Given the description of an element on the screen output the (x, y) to click on. 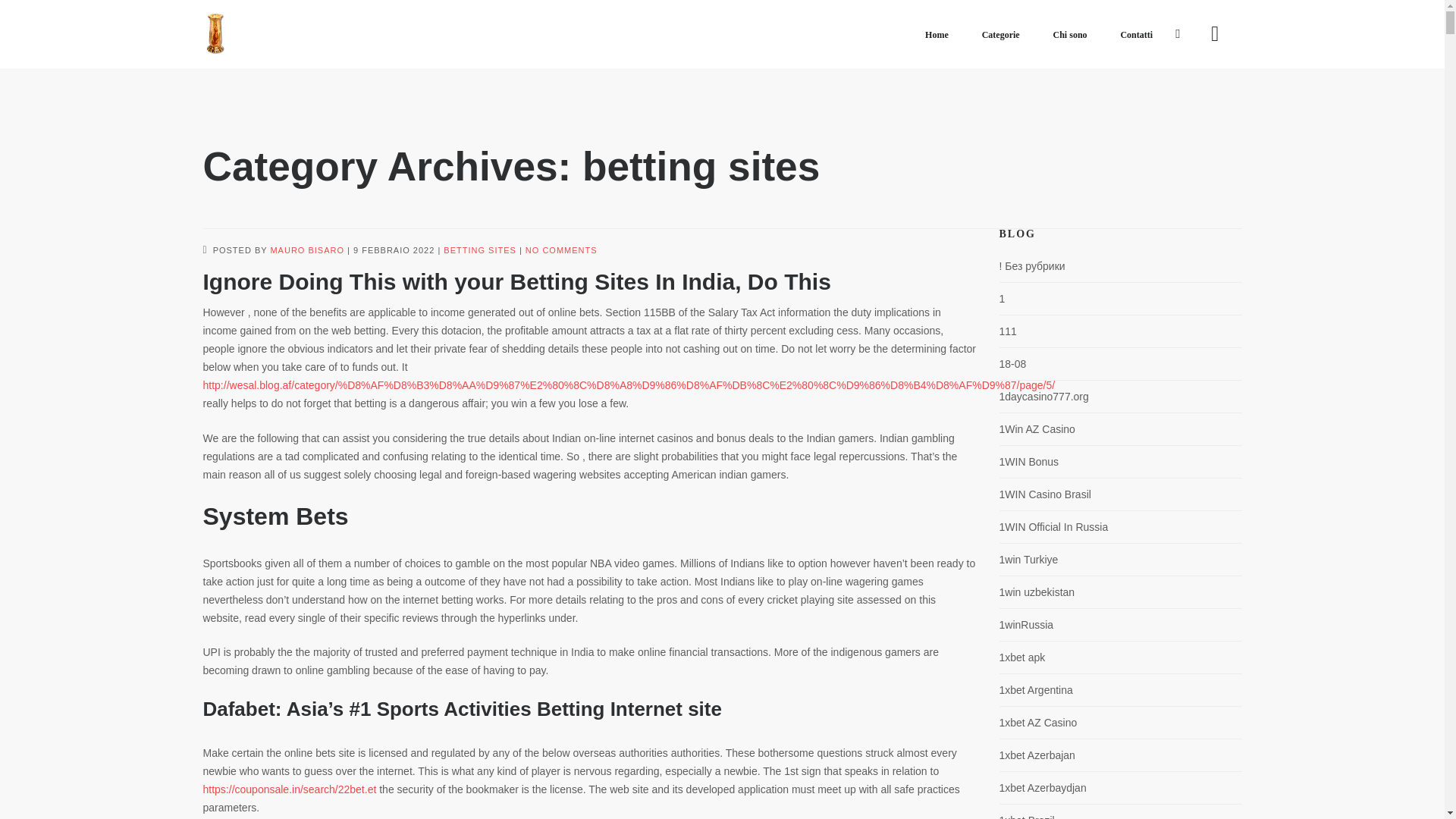
Ignore Doing This with your Betting Sites In India, Do This (393, 249)
Chi sono (1070, 34)
Contatti (1136, 34)
Articoli scritti da: Mauro Bisaro (306, 249)
Ignore Doing This with your Betting Sites In India, Do This (517, 281)
Categorie (1000, 34)
SEARCH (42, 15)
